Given the description of an element on the screen output the (x, y) to click on. 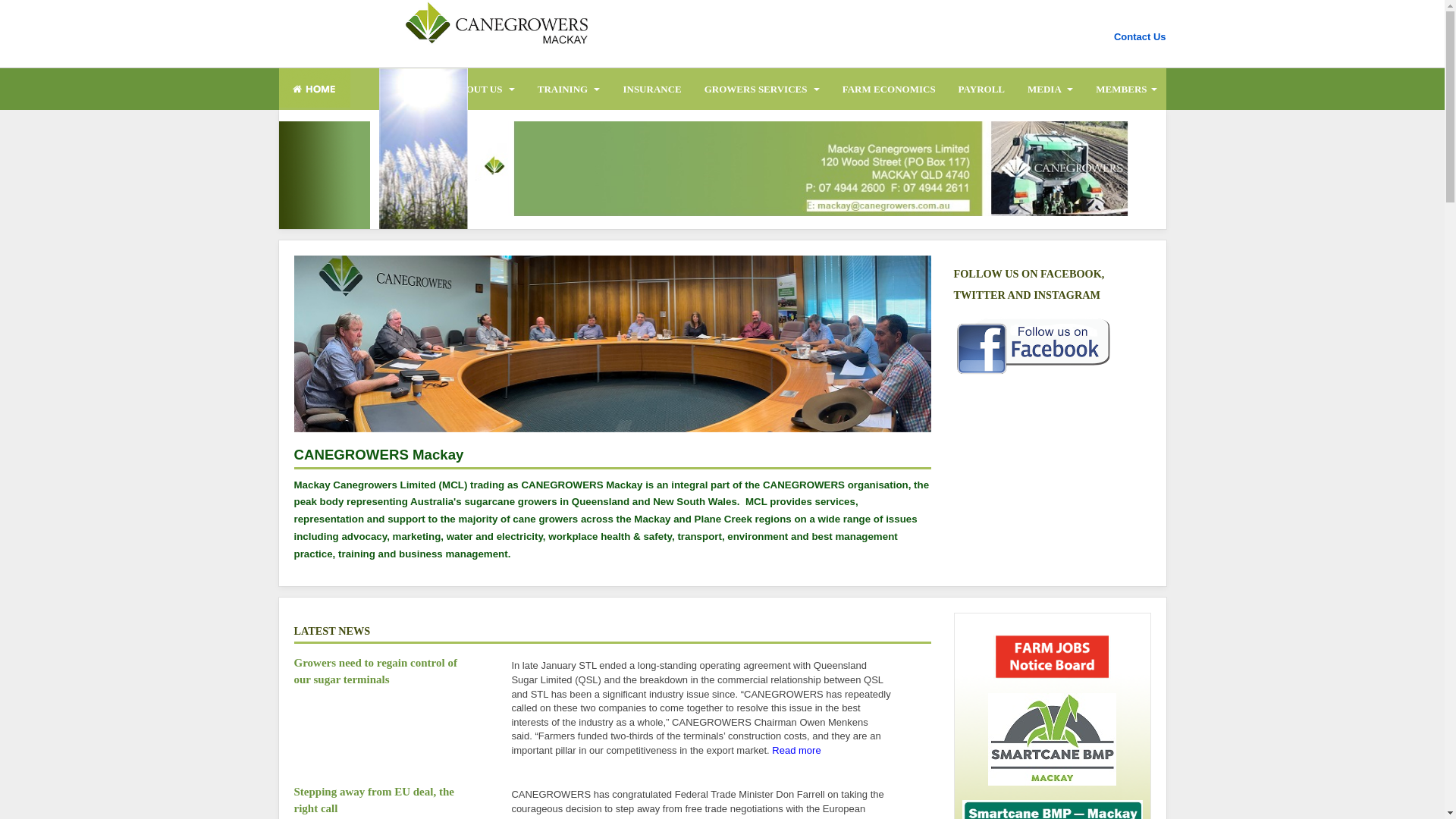
ABOUT US Element type: text (483, 88)
TRAINING Element type: text (568, 88)
MEDIA Element type: text (1050, 88)
FARM ECONOMICS Element type: text (888, 88)
Read more Element type: text (795, 750)
PAYROLL Element type: text (981, 88)
INSURANCE Element type: text (651, 88)
Back to CANEGROWERS Mackay Homepage Element type: hover (434, 27)
HOME Element type: text (407, 88)
GROWERS SERVICES Element type: text (761, 88)
